Given the description of an element on the screen output the (x, y) to click on. 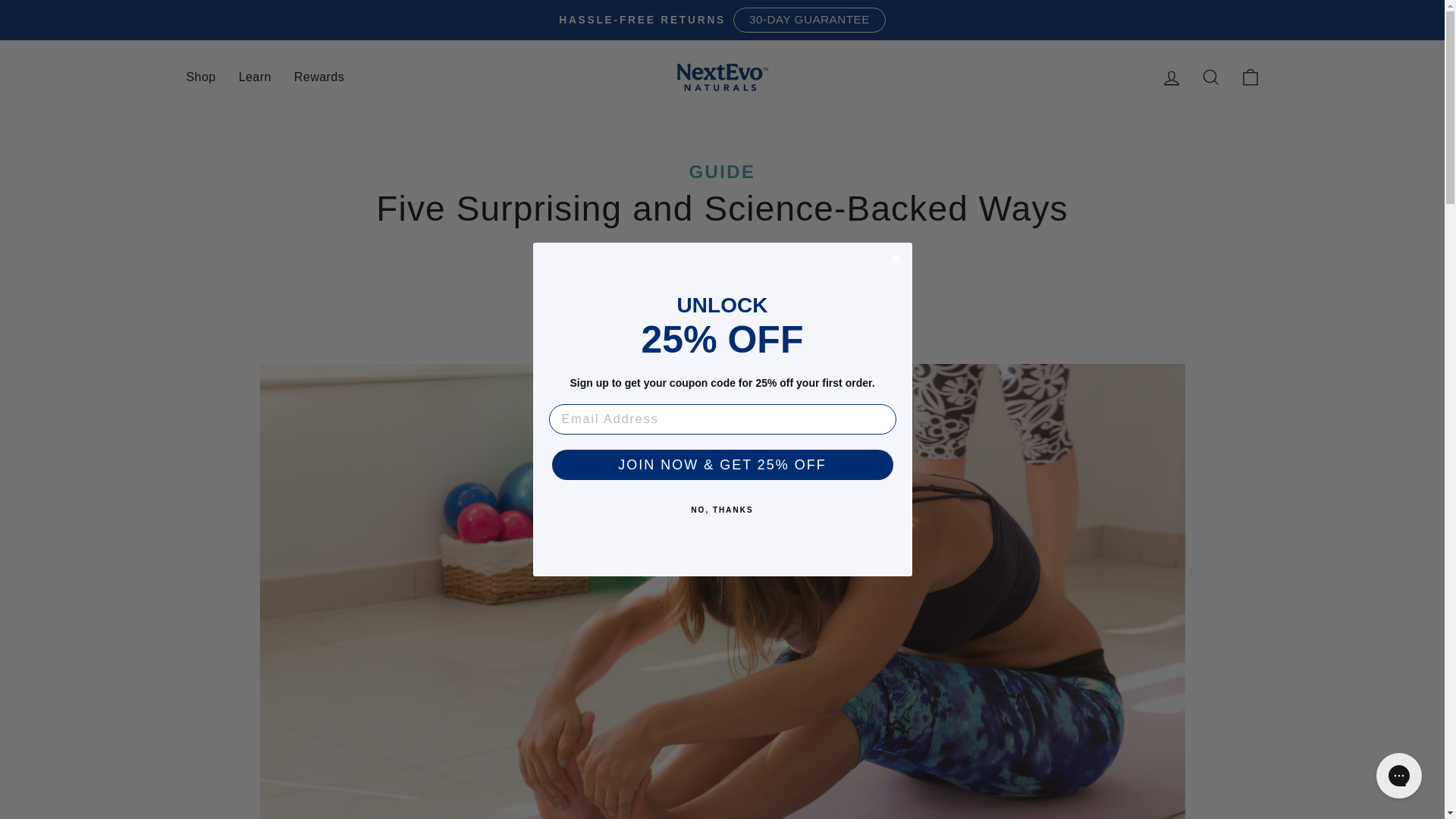
Gorgias live chat messenger (1398, 775)
